Given the description of an element on the screen output the (x, y) to click on. 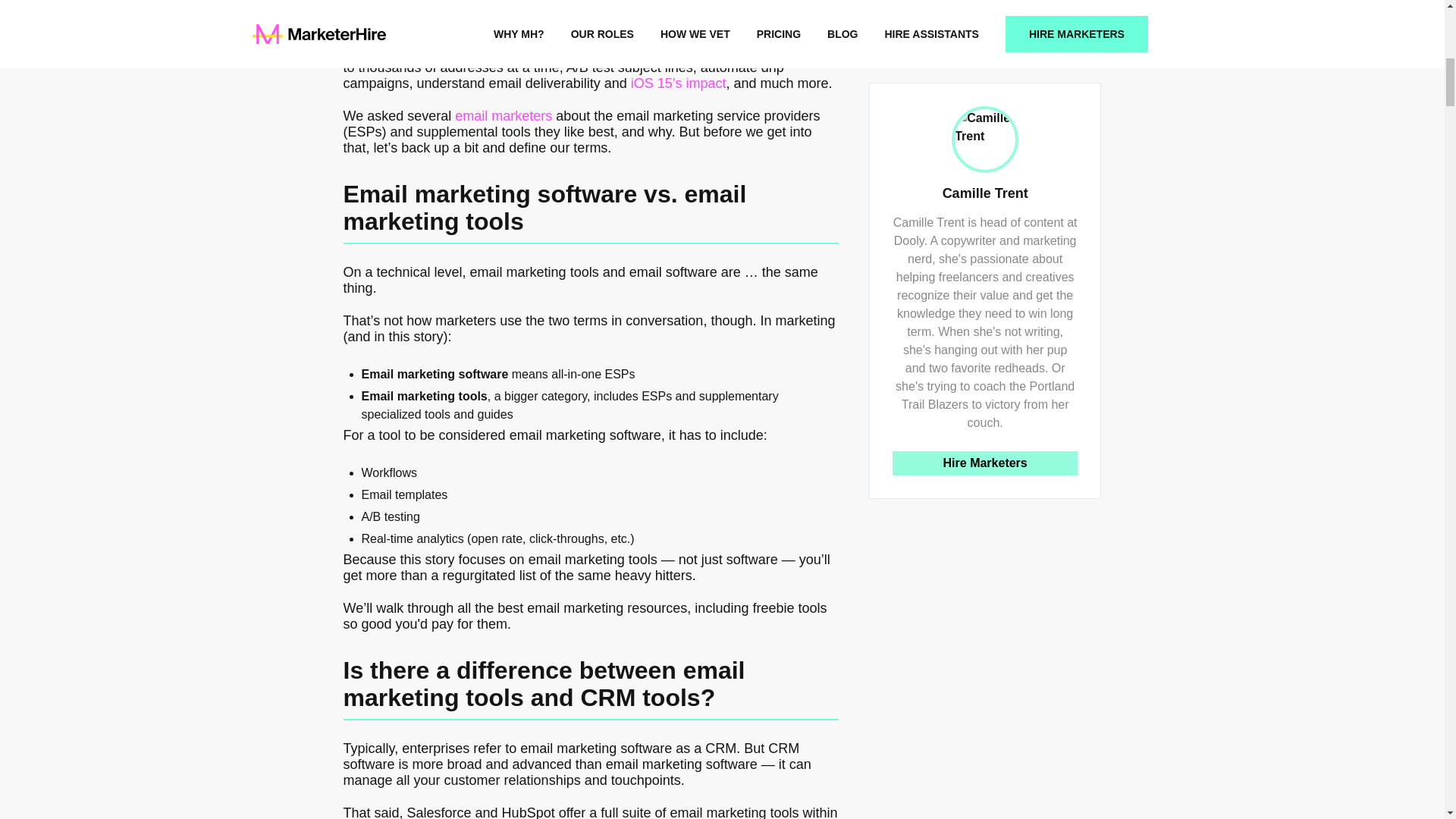
Content Marketing Institute (437, 11)
email marketers (502, 115)
